Given the description of an element on the screen output the (x, y) to click on. 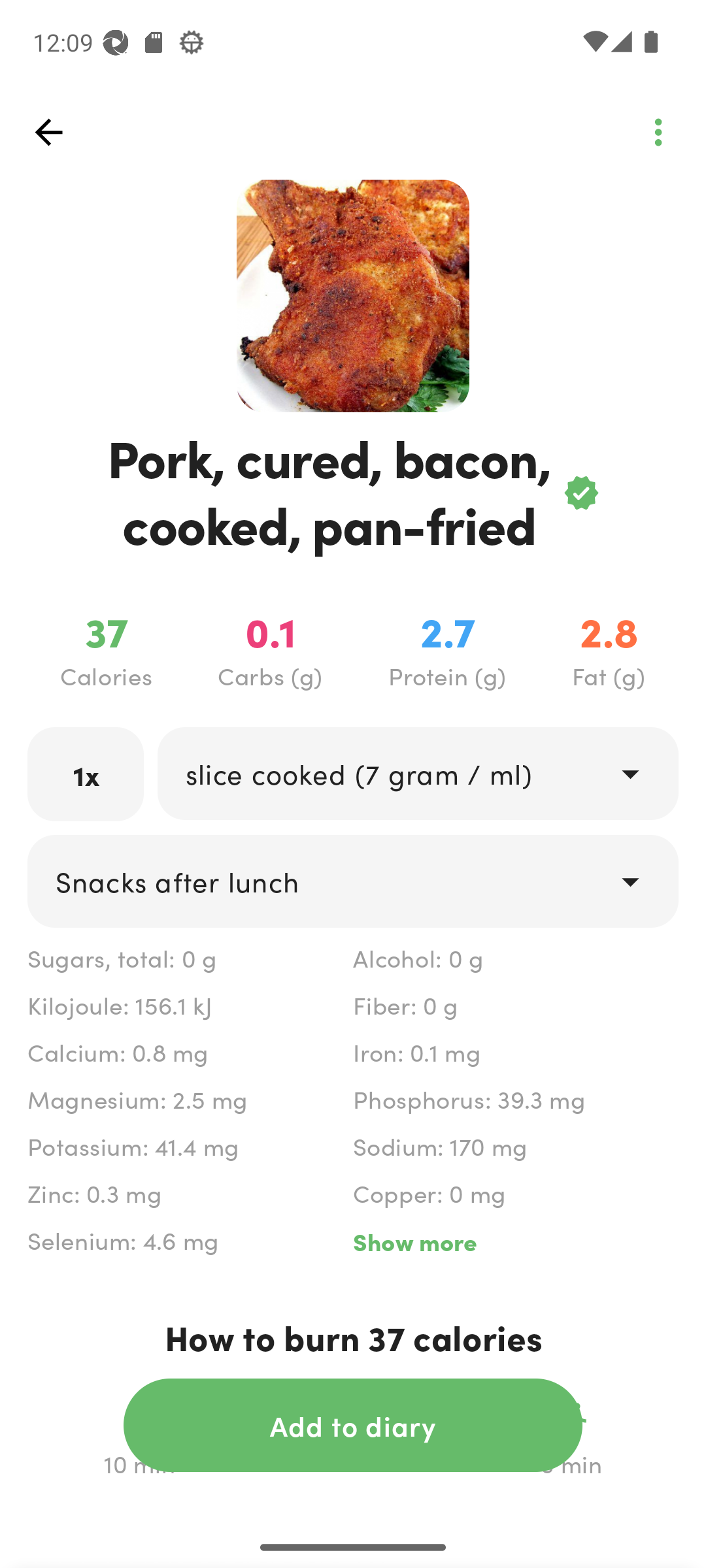
top_left_action (48, 132)
top_left_action (658, 132)
1x labeled_edit_text (85, 774)
drop_down slice cooked (7 gram / ml) (417, 773)
drop_down Snacks after lunch (352, 881)
Show more (515, 1240)
action_button Add to diary (352, 1425)
